Given the description of an element on the screen output the (x, y) to click on. 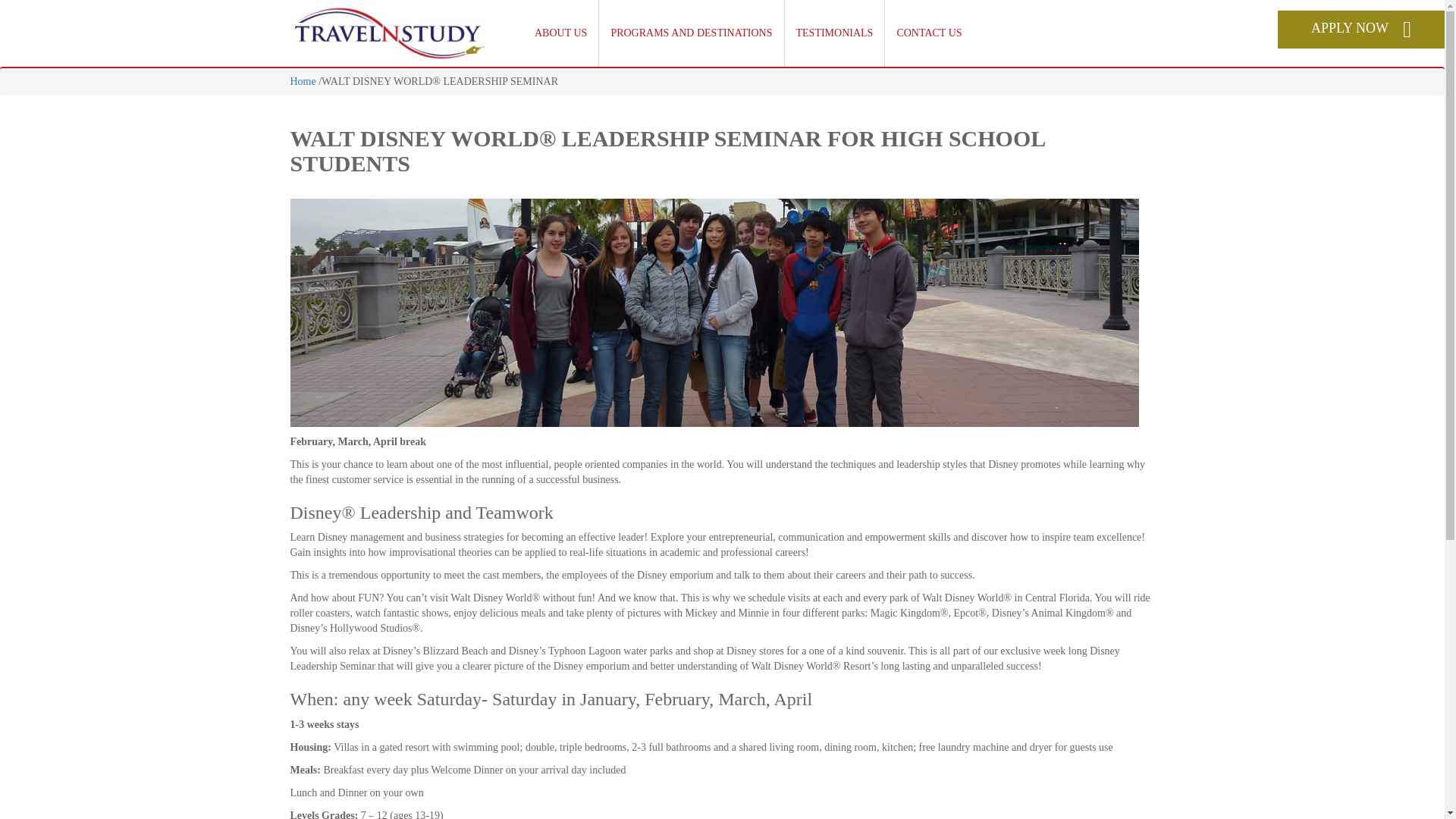
TESTIMONIALS (834, 33)
PROGRAMS AND DESTINATIONS (691, 33)
CONTACT US (928, 33)
ABOUT US (560, 33)
Home (302, 81)
